Given the description of an element on the screen output the (x, y) to click on. 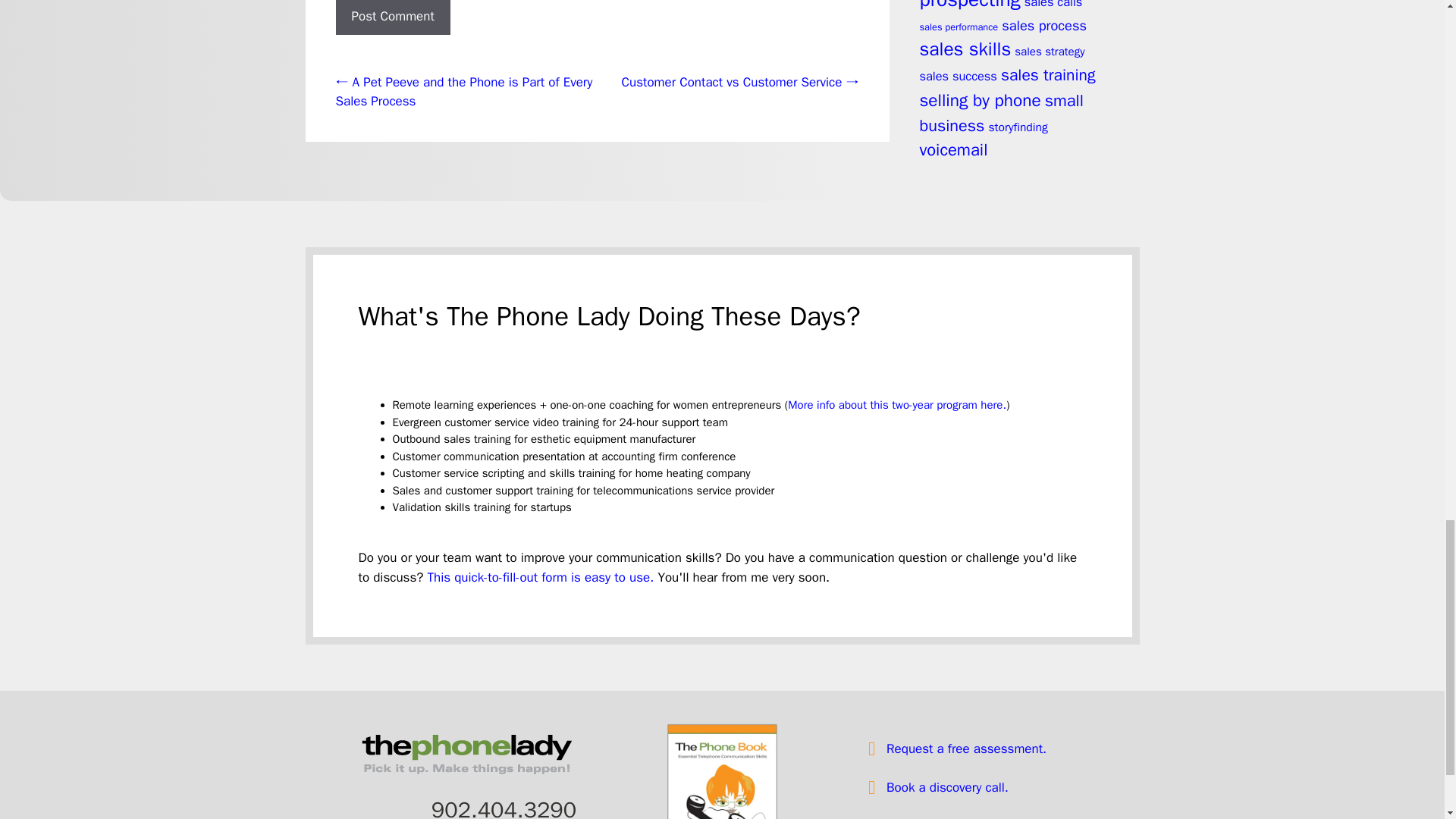
Post Comment (391, 17)
The Phone Book border (721, 770)
Post Comment (391, 17)
